Given the description of an element on the screen output the (x, y) to click on. 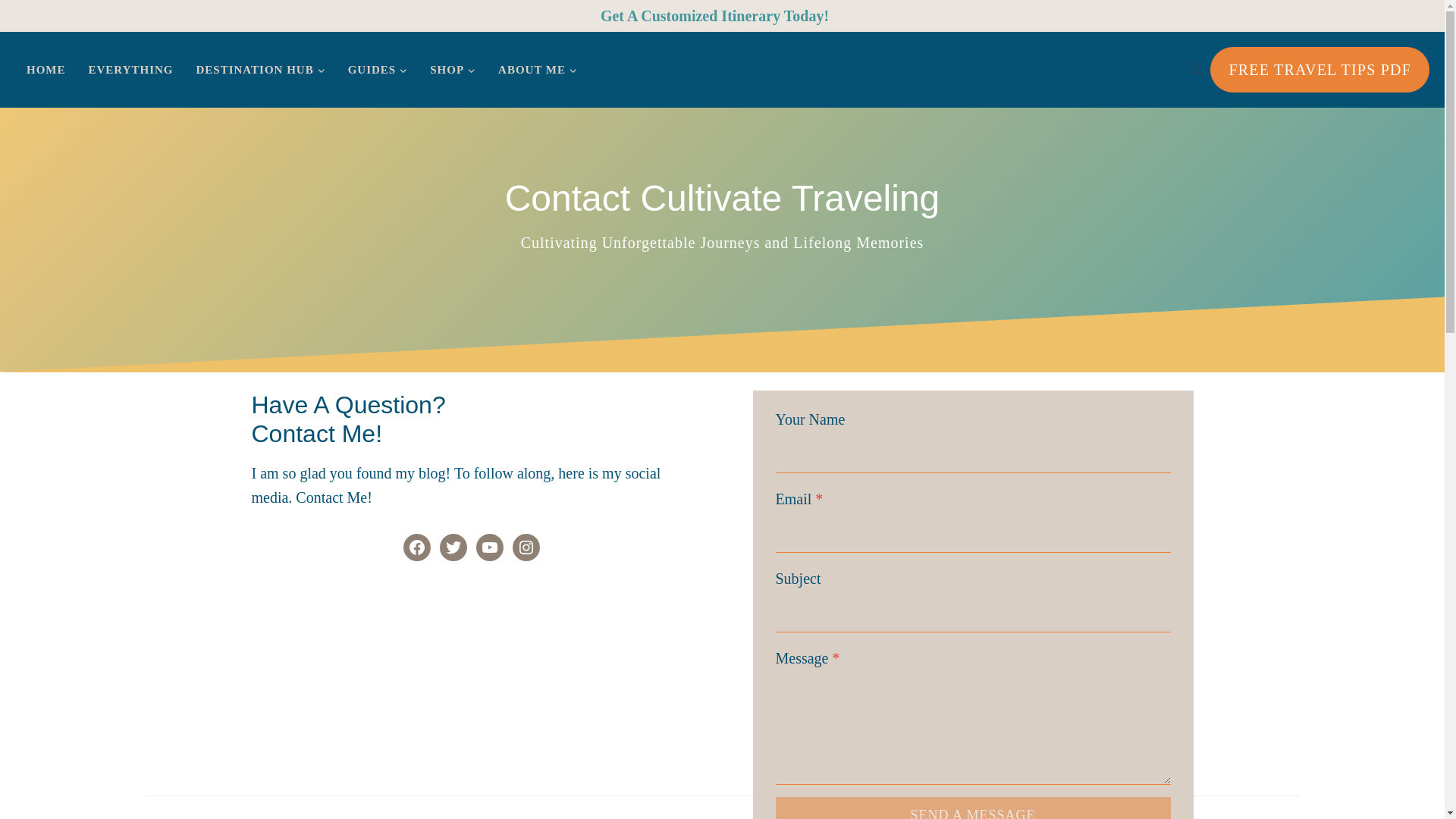
HOME (45, 69)
SHOP (452, 69)
GUIDES (377, 69)
ABOUT ME (537, 69)
DESTINATION HUB (260, 69)
EVERYTHING (130, 69)
Get A Customized Itinerary Today! (713, 15)
FREE TRAVEL TIPS PDF (1319, 69)
